Given the description of an element on the screen output the (x, y) to click on. 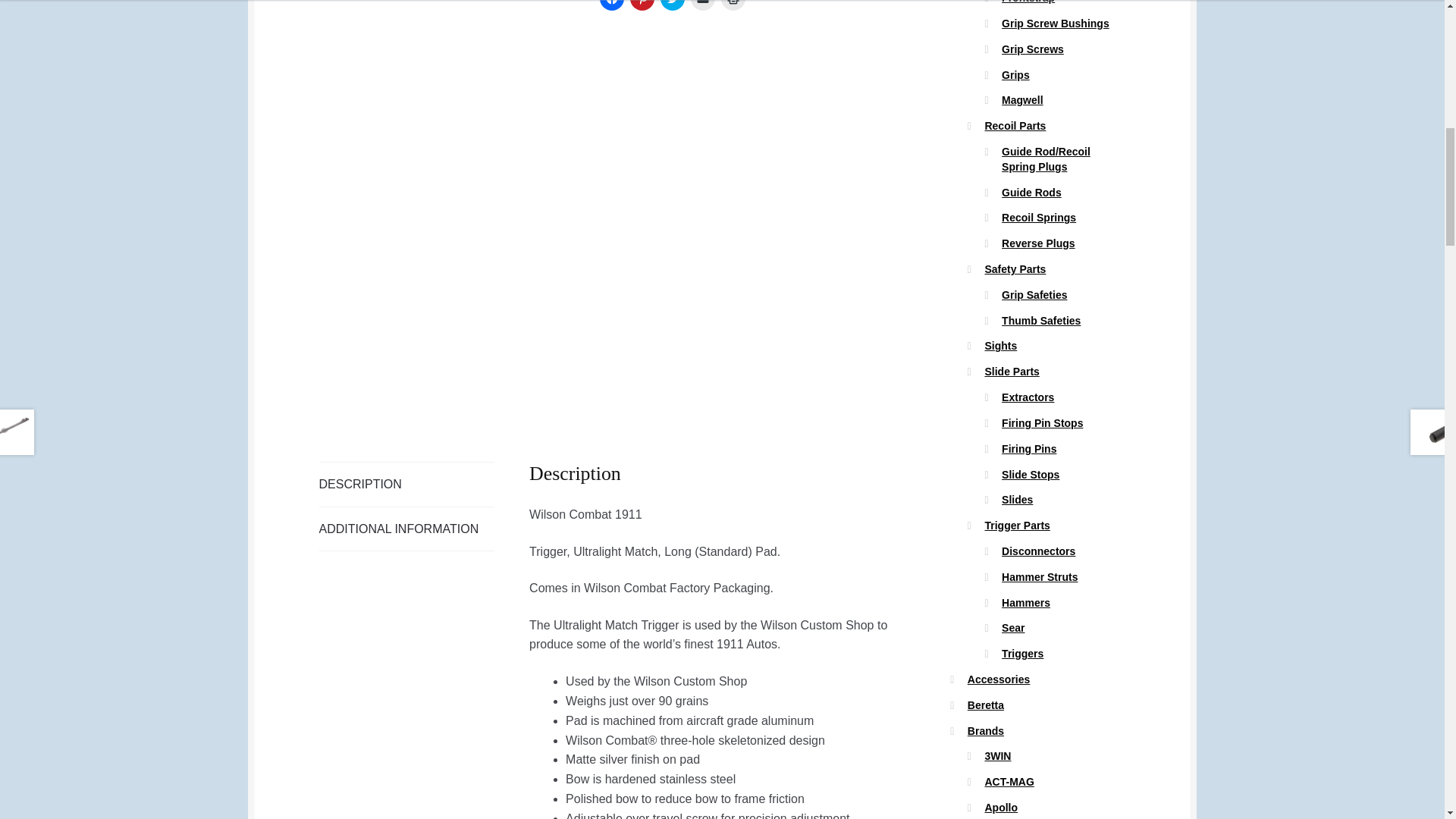
Click to share on Pinterest (641, 5)
Click to share on Facebook (611, 5)
Click to print (732, 5)
Click to share on Twitter (672, 5)
Click to email a link to a friend (702, 5)
